Given the description of an element on the screen output the (x, y) to click on. 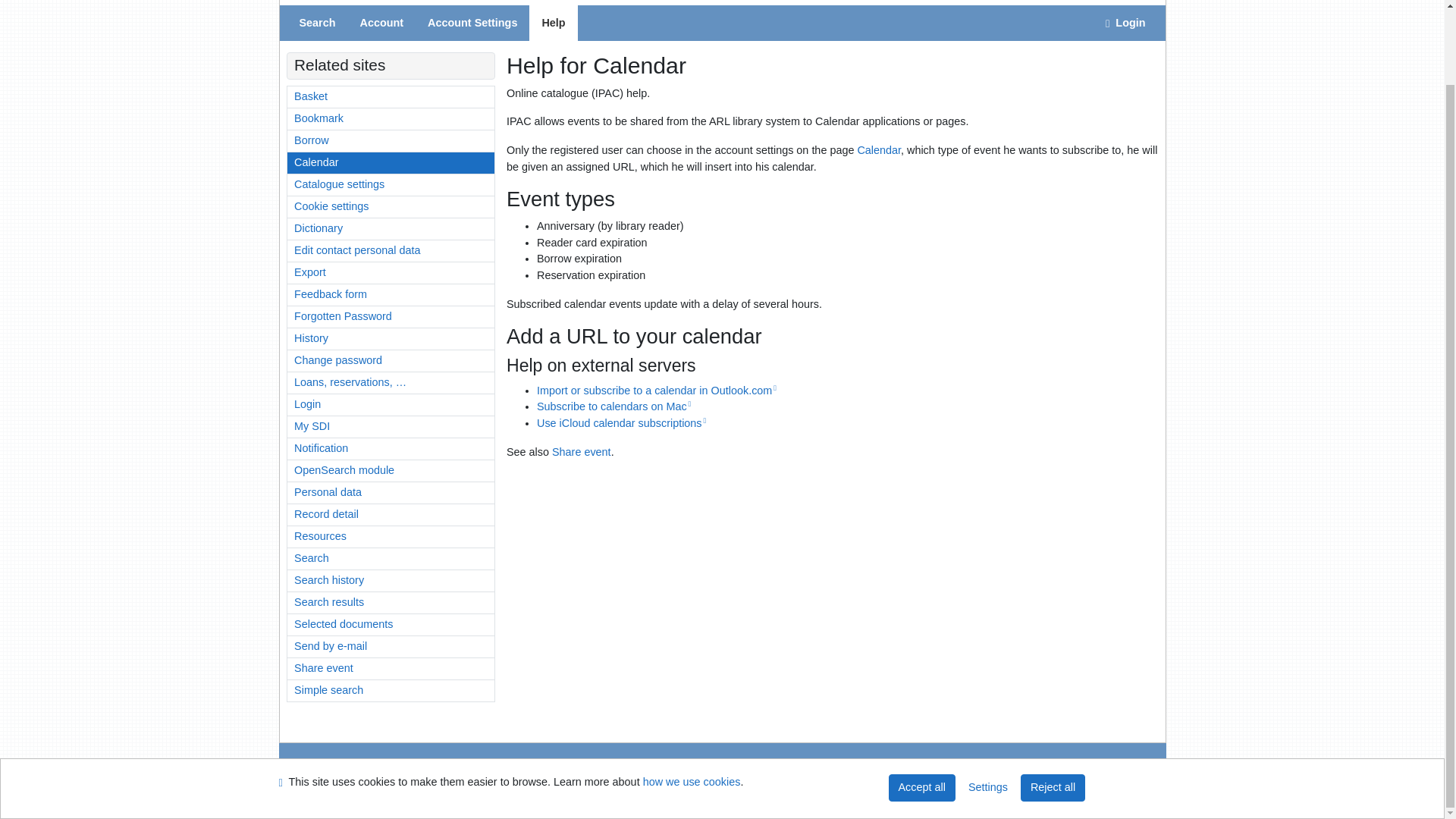
Subscribe to calendars on Mac (615, 406)
Personal data (390, 492)
Search (316, 22)
Calendar (879, 150)
OpenSearch module (390, 470)
Catalogue settings (390, 184)
Help (552, 22)
Login (390, 404)
Record detail (390, 514)
Search the online catalogue (316, 22)
Edit contact personal data (390, 250)
Account (380, 22)
User login to online catalogue (1125, 22)
Request or reservation (390, 140)
Feedback form (390, 294)
